Given the description of an element on the screen output the (x, y) to click on. 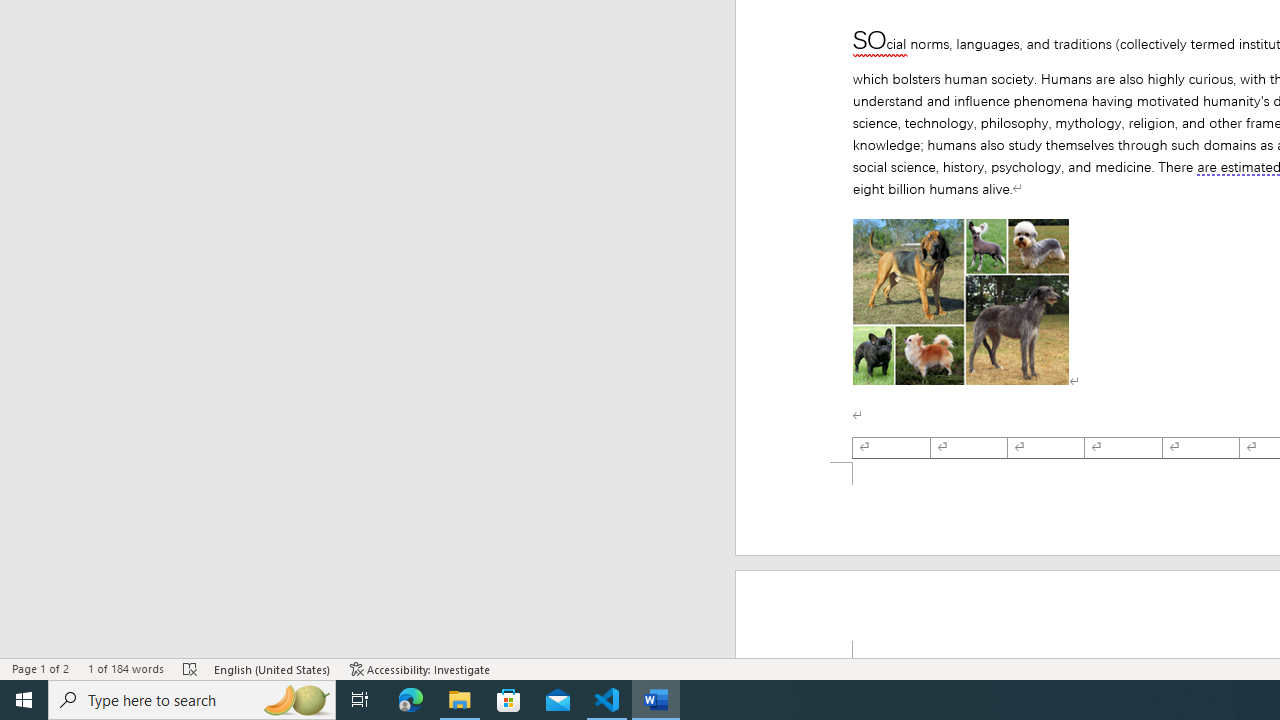
Page Number Page 1 of 2 (39, 668)
